Given the description of an element on the screen output the (x, y) to click on. 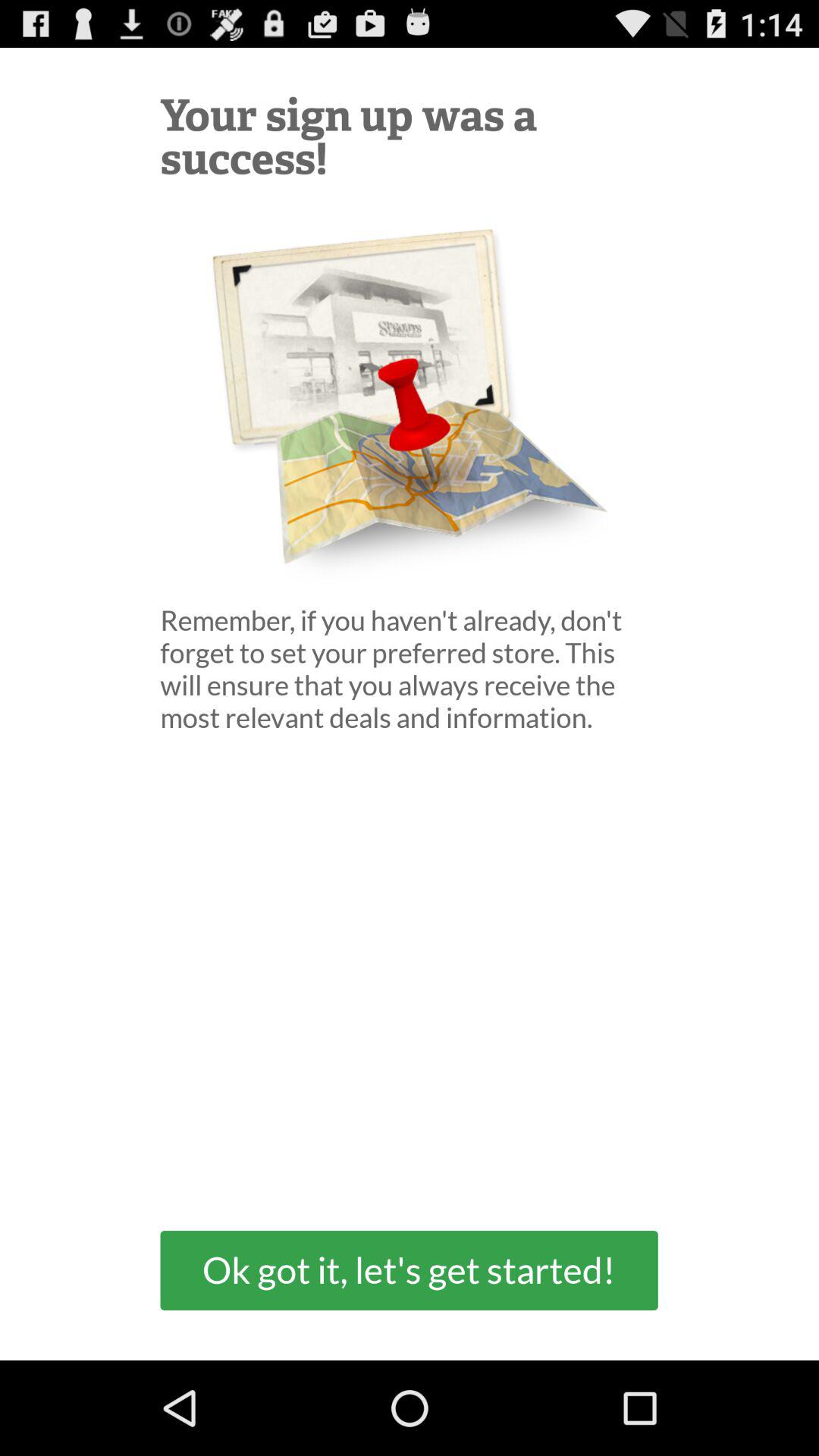
press item at the bottom (409, 1270)
